Given the description of an element on the screen output the (x, y) to click on. 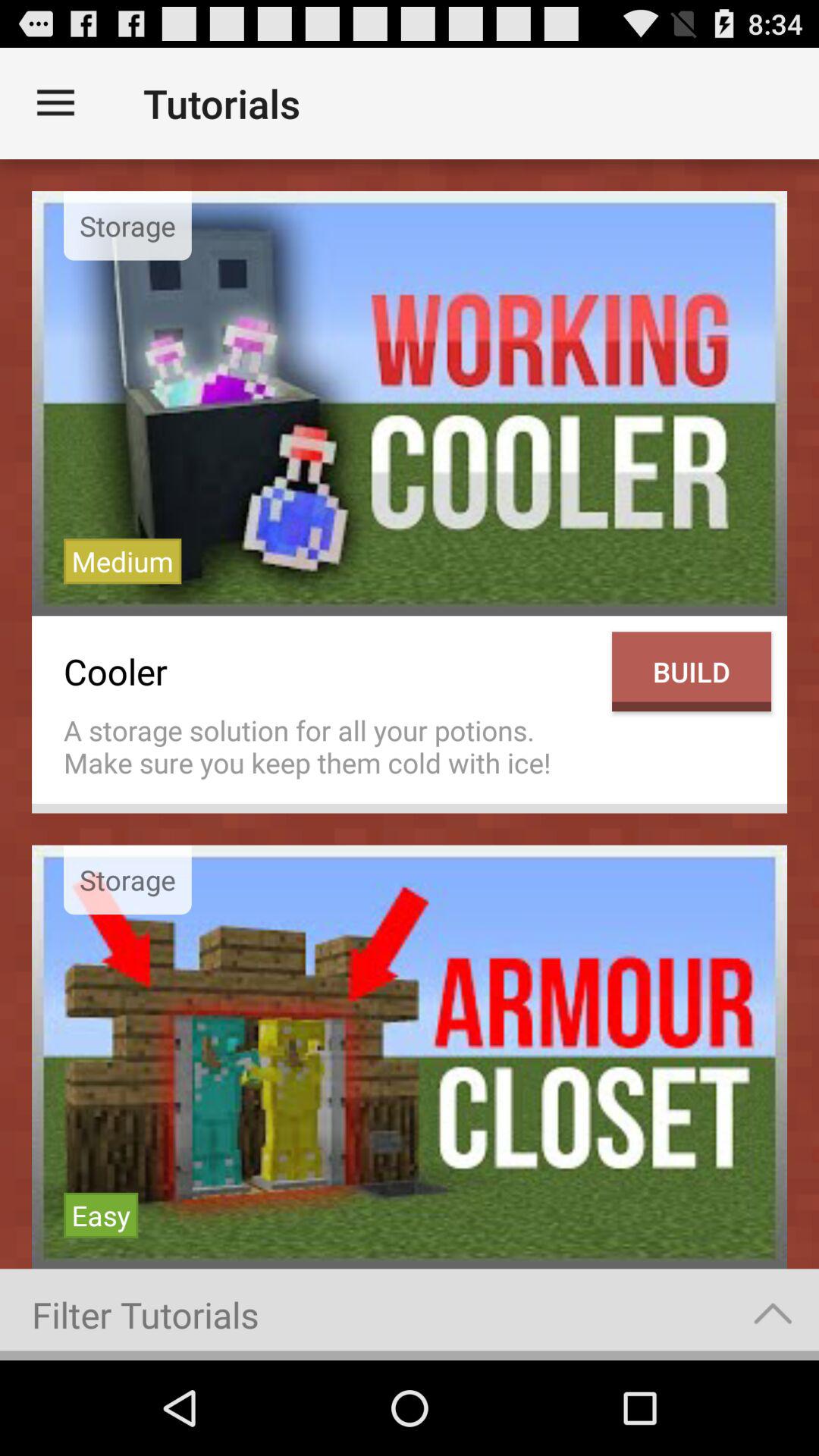
press the easy icon (100, 1215)
